Given the description of an element on the screen output the (x, y) to click on. 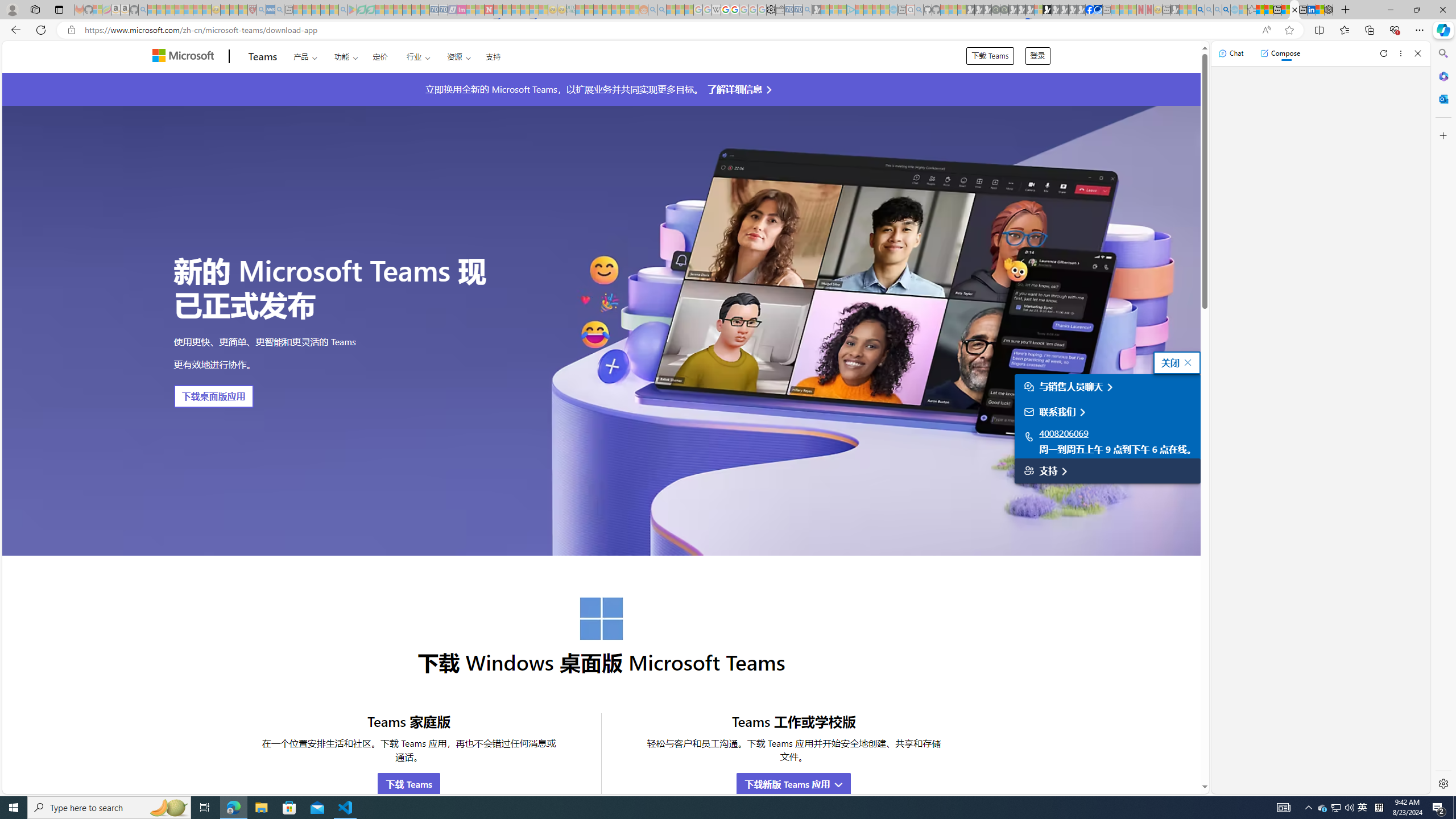
utah sues federal government - Search - Sleeping (279, 9)
Utah sues federal government - Search - Sleeping (661, 9)
Terms of Use Agreement - Sleeping (361, 9)
